Given the description of an element on the screen output the (x, y) to click on. 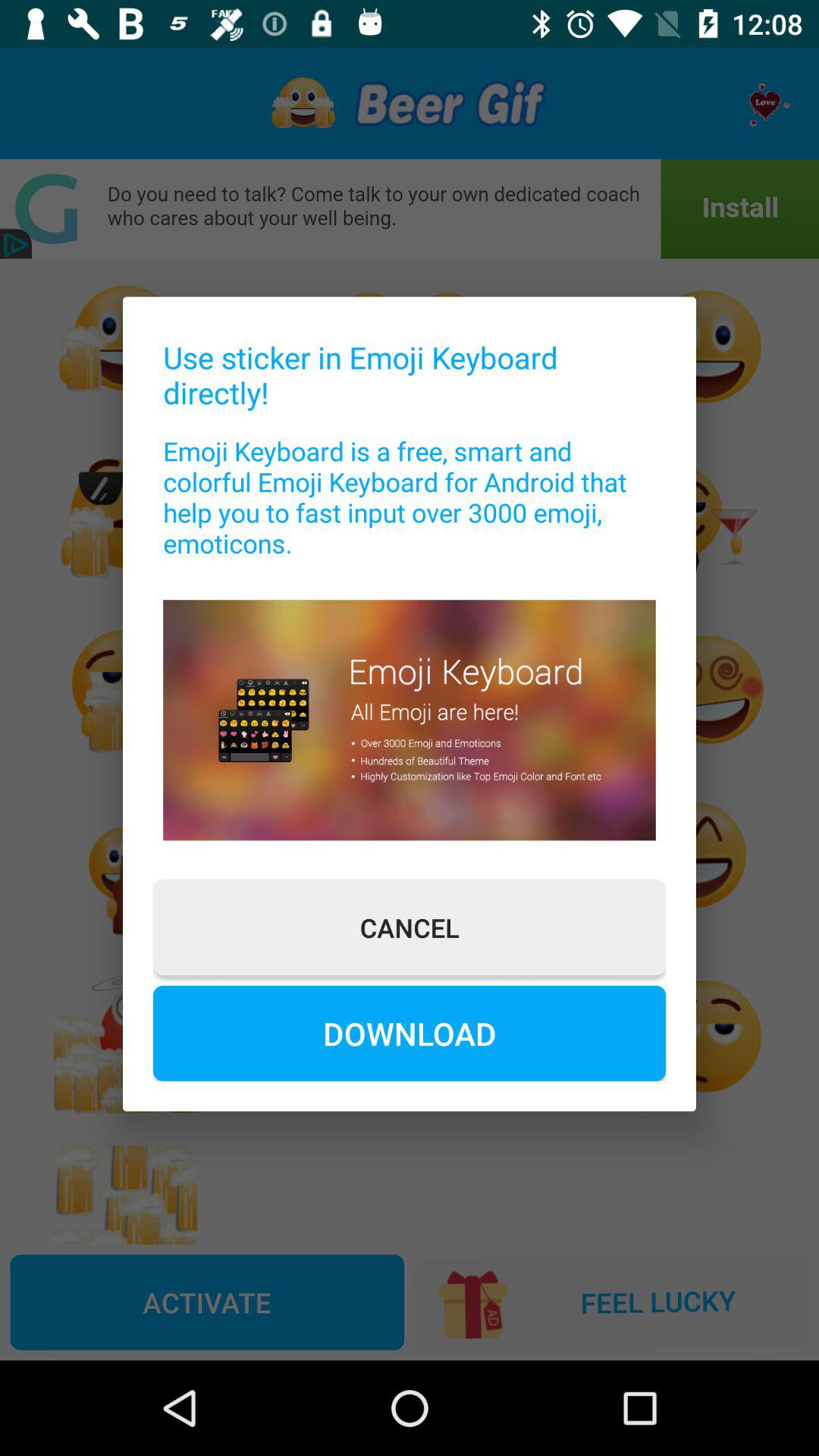
launch item above the download icon (409, 927)
